Given the description of an element on the screen output the (x, y) to click on. 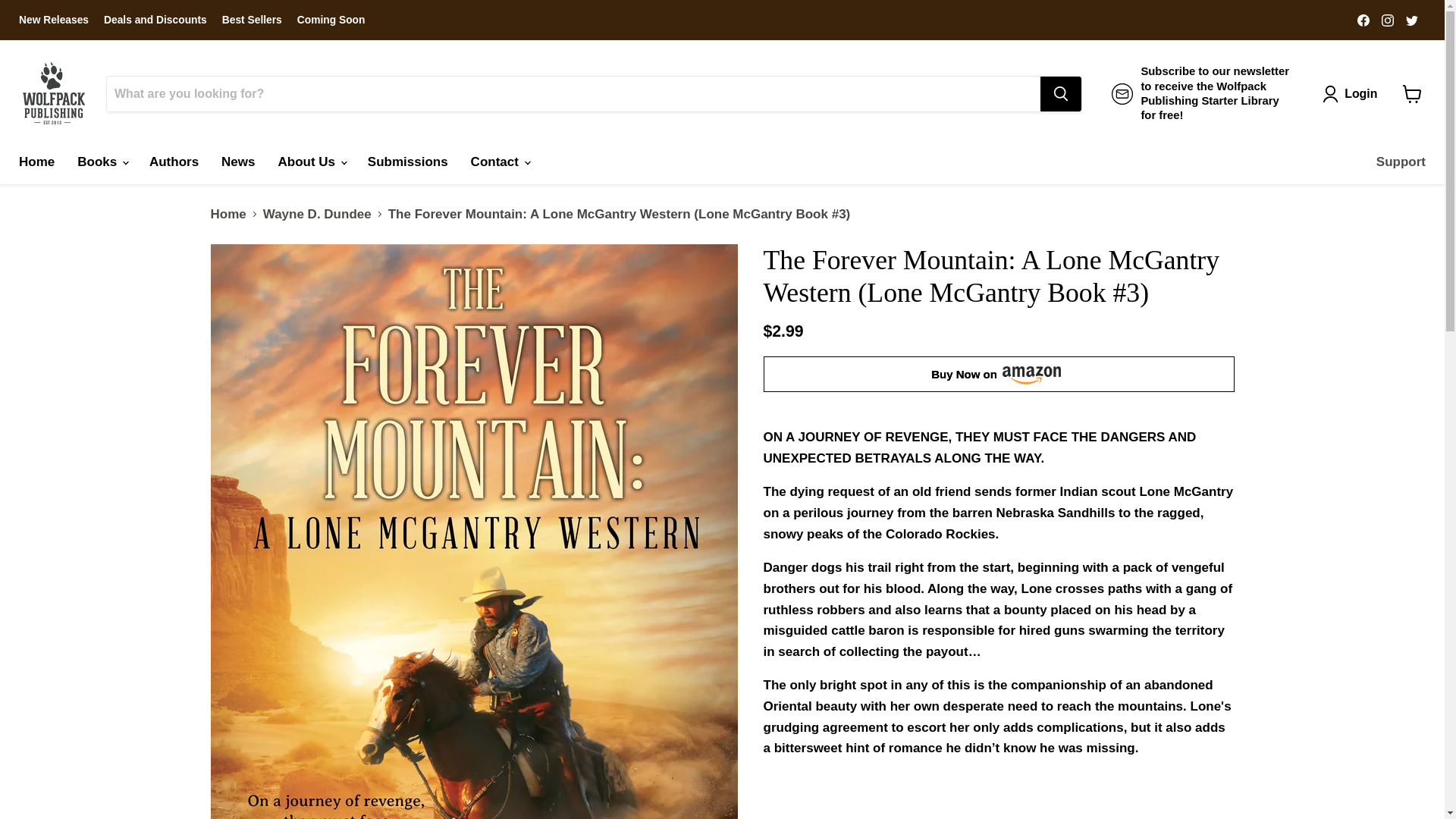
View cart (1411, 93)
Coming Soon (331, 20)
Find us on Instagram (1387, 19)
Best Sellers (252, 20)
Deals and Discounts (154, 20)
Find us on Facebook (1363, 19)
Instagram (1387, 19)
Login (1353, 93)
Twitter (1411, 19)
Find us on Twitter (1411, 19)
Facebook (1363, 19)
Home (36, 161)
New Releases (53, 20)
